Given the description of an element on the screen output the (x, y) to click on. 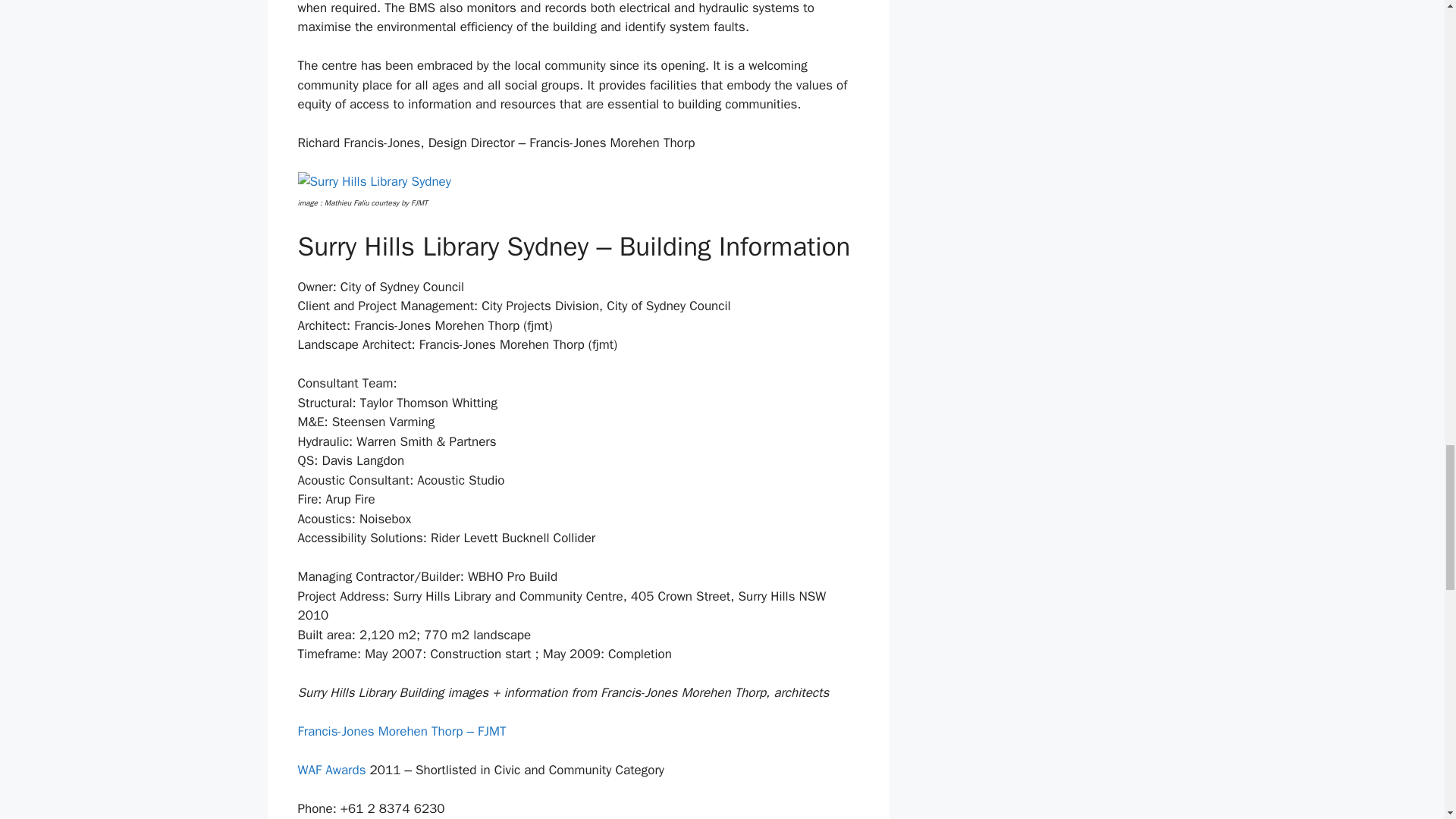
WAF Awards (331, 770)
